Given the description of an element on the screen output the (x, y) to click on. 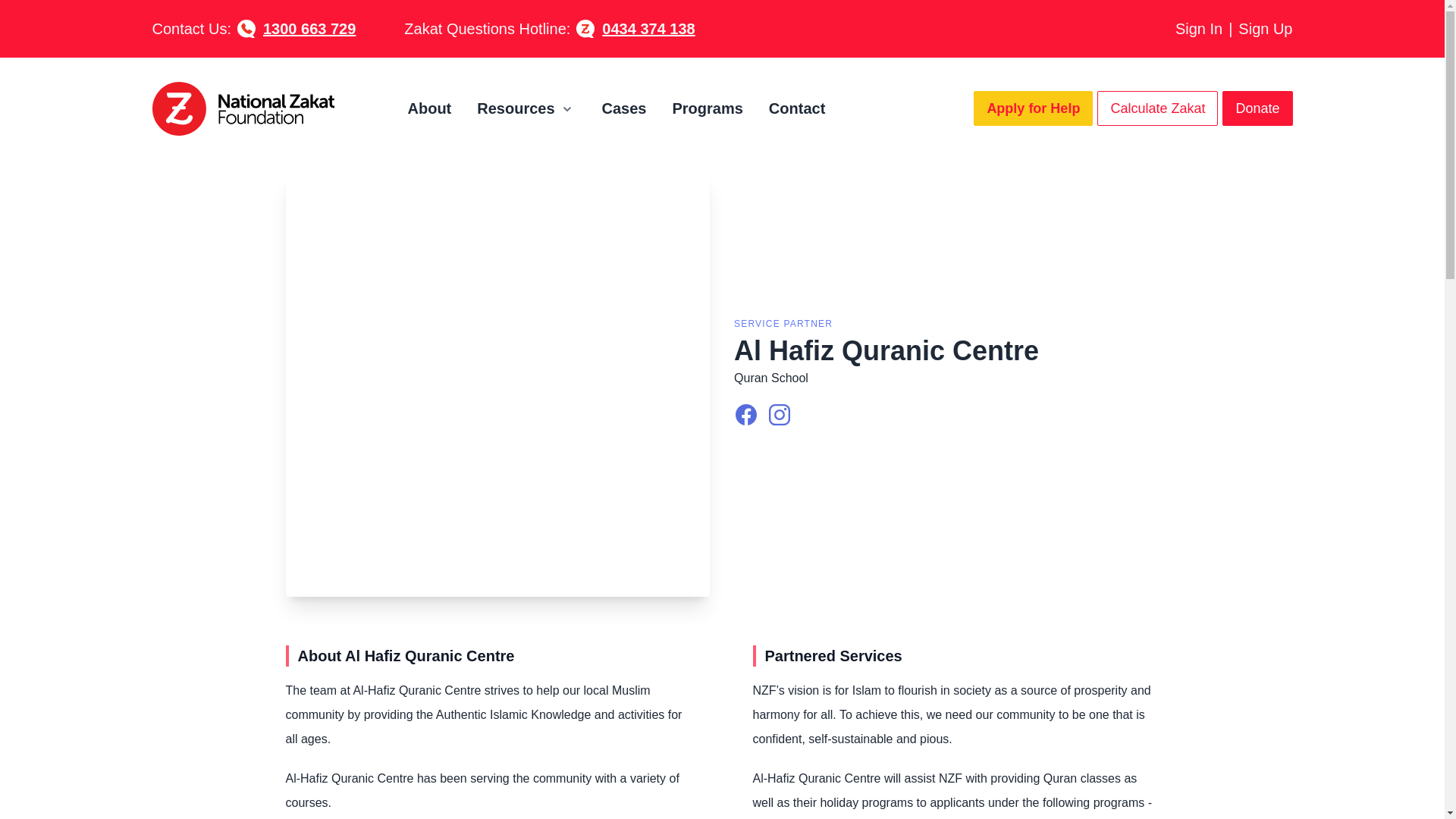
Sign In (1198, 28)
Cases (624, 108)
Contact (796, 108)
Donate (1257, 108)
Apply for Help (1033, 108)
Calculate Zakat (1157, 108)
0434 374 138 (645, 28)
1300 663 729 (307, 28)
About (429, 108)
Sign Up (1265, 28)
